Given the description of an element on the screen output the (x, y) to click on. 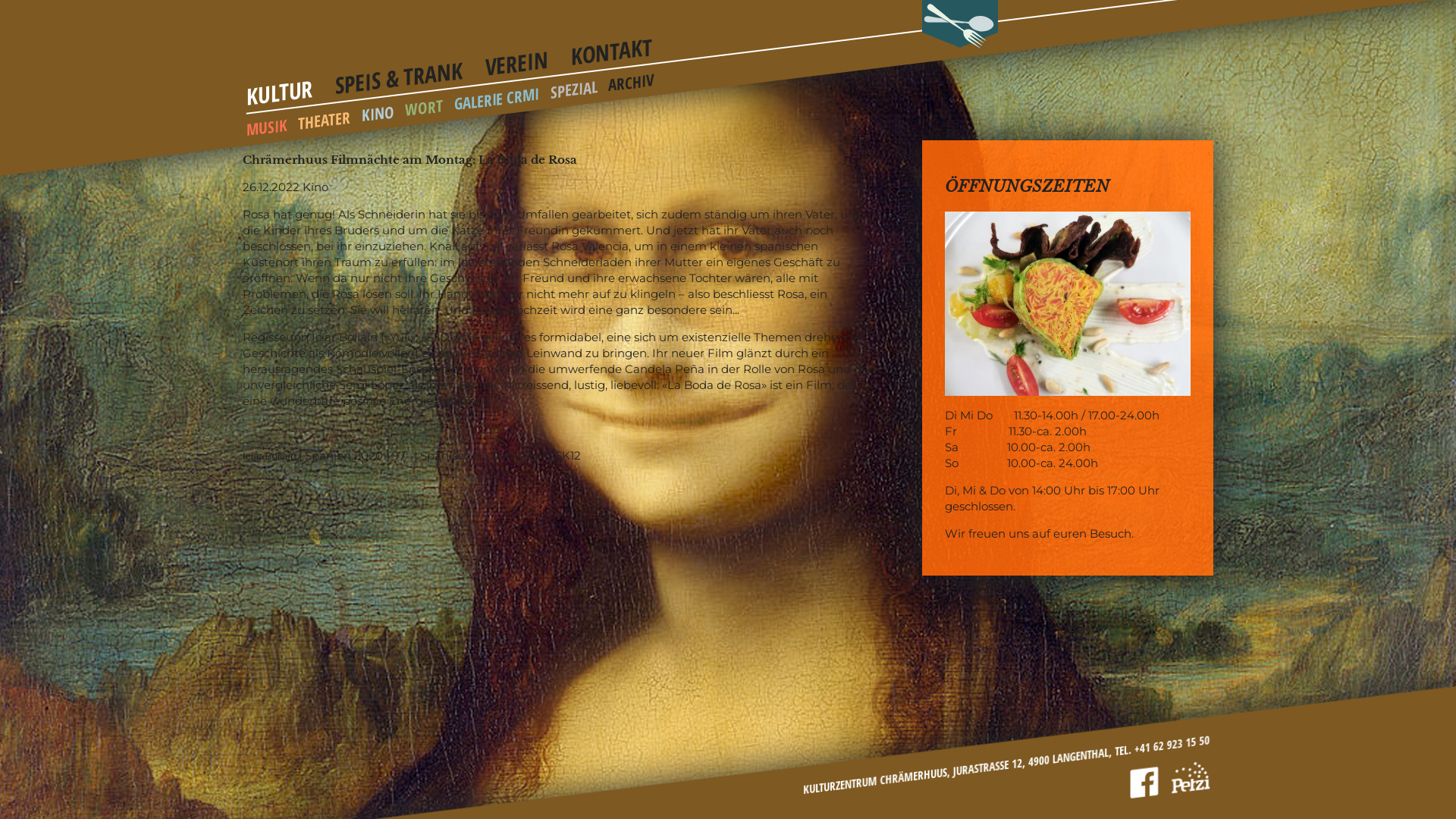
WORT Element type: text (423, 105)
KINO Element type: text (377, 111)
KONTAKT Element type: text (611, 46)
GALERIE CRMI Element type: text (496, 93)
KULTUR Element type: text (279, 87)
SPEZIAL Element type: text (573, 86)
Vorverkauf Element type: text (1190, 774)
Facebook Element type: text (1144, 780)
THEATER Element type: text (324, 117)
MUSIK Element type: text (266, 124)
VEREIN Element type: text (516, 59)
ARCHIV Element type: text (631, 79)
SPEIS & TRANK Element type: text (399, 69)
